Given the description of an element on the screen output the (x, y) to click on. 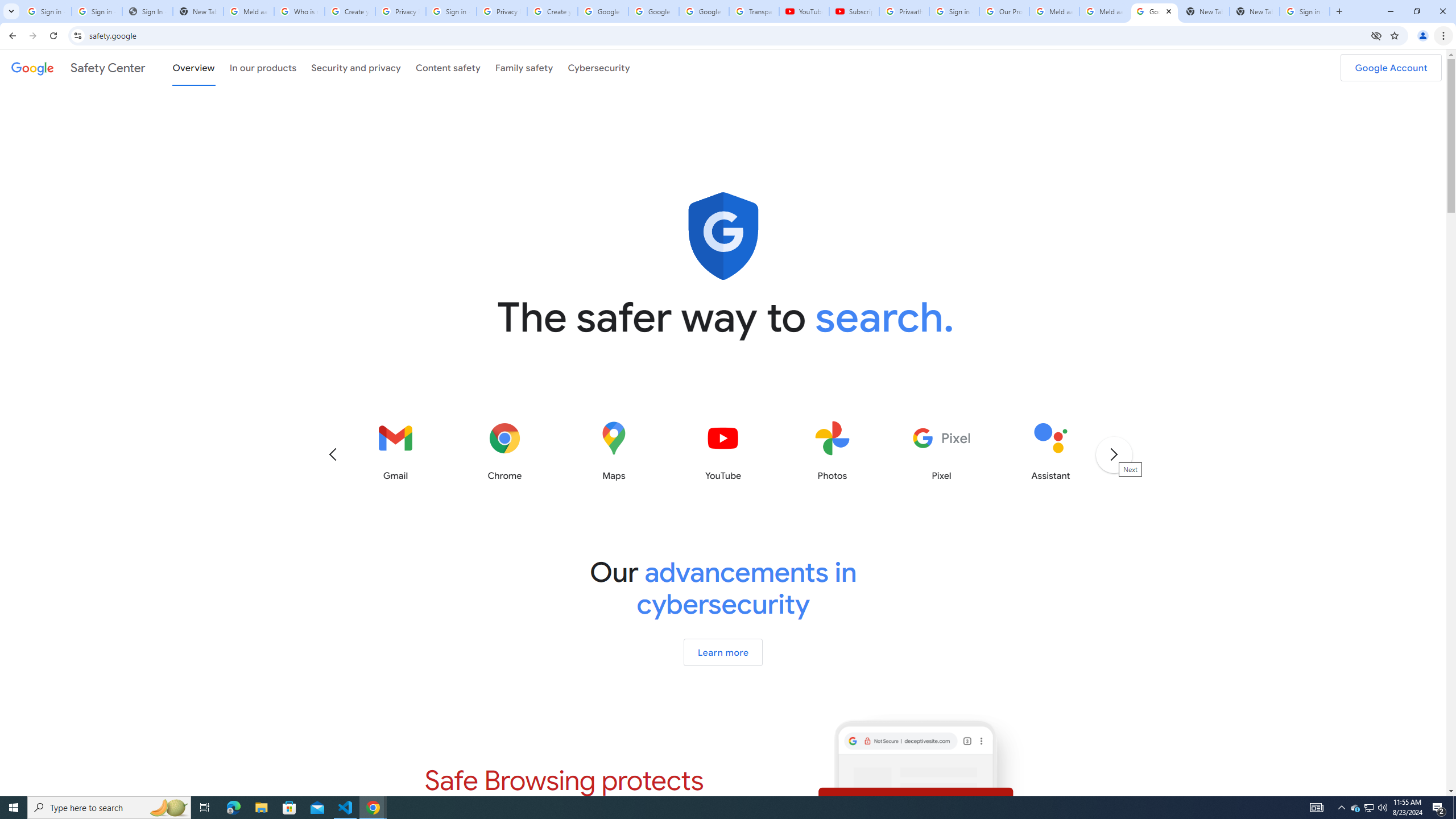
In our products (262, 67)
New Tab (1254, 11)
Create your Google Account (350, 11)
Learn more (722, 651)
Create your Google Account (552, 11)
Sign in - Google Accounts (1304, 11)
Who is my administrator? - Google Account Help (299, 11)
